Given the description of an element on the screen output the (x, y) to click on. 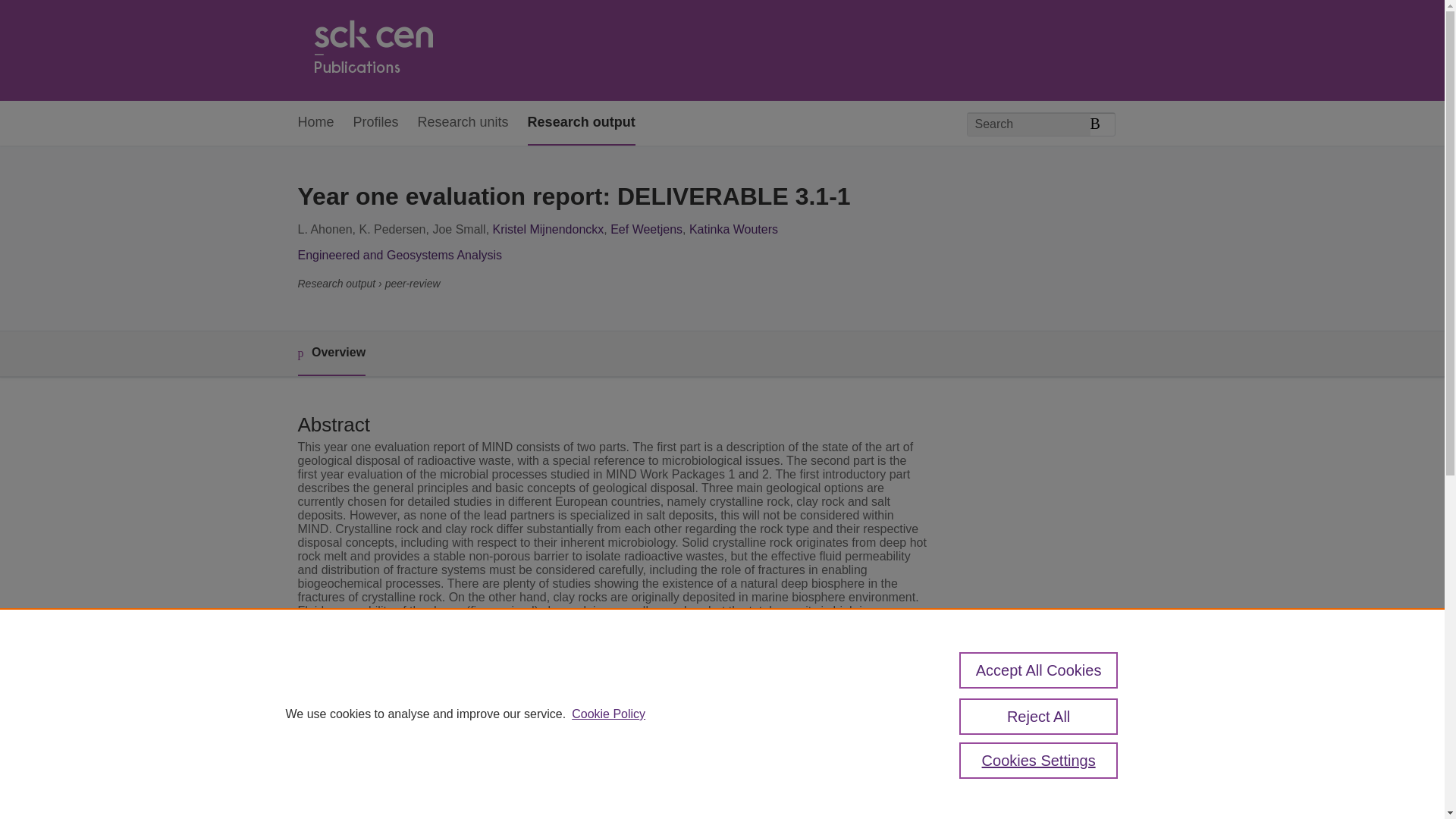
Research output (580, 122)
Cookie Policy (608, 713)
Accept All Cookies (1038, 669)
Katinka Wouters (732, 228)
Profiles (375, 122)
Eef Weetjens (646, 228)
Home (372, 50)
Kristel Mijnendonckx (548, 228)
Overview (331, 353)
Research units (462, 122)
Engineered and Geosystems Analysis (398, 254)
Reject All (1038, 716)
Cookies Settings (1038, 760)
